Given the description of an element on the screen output the (x, y) to click on. 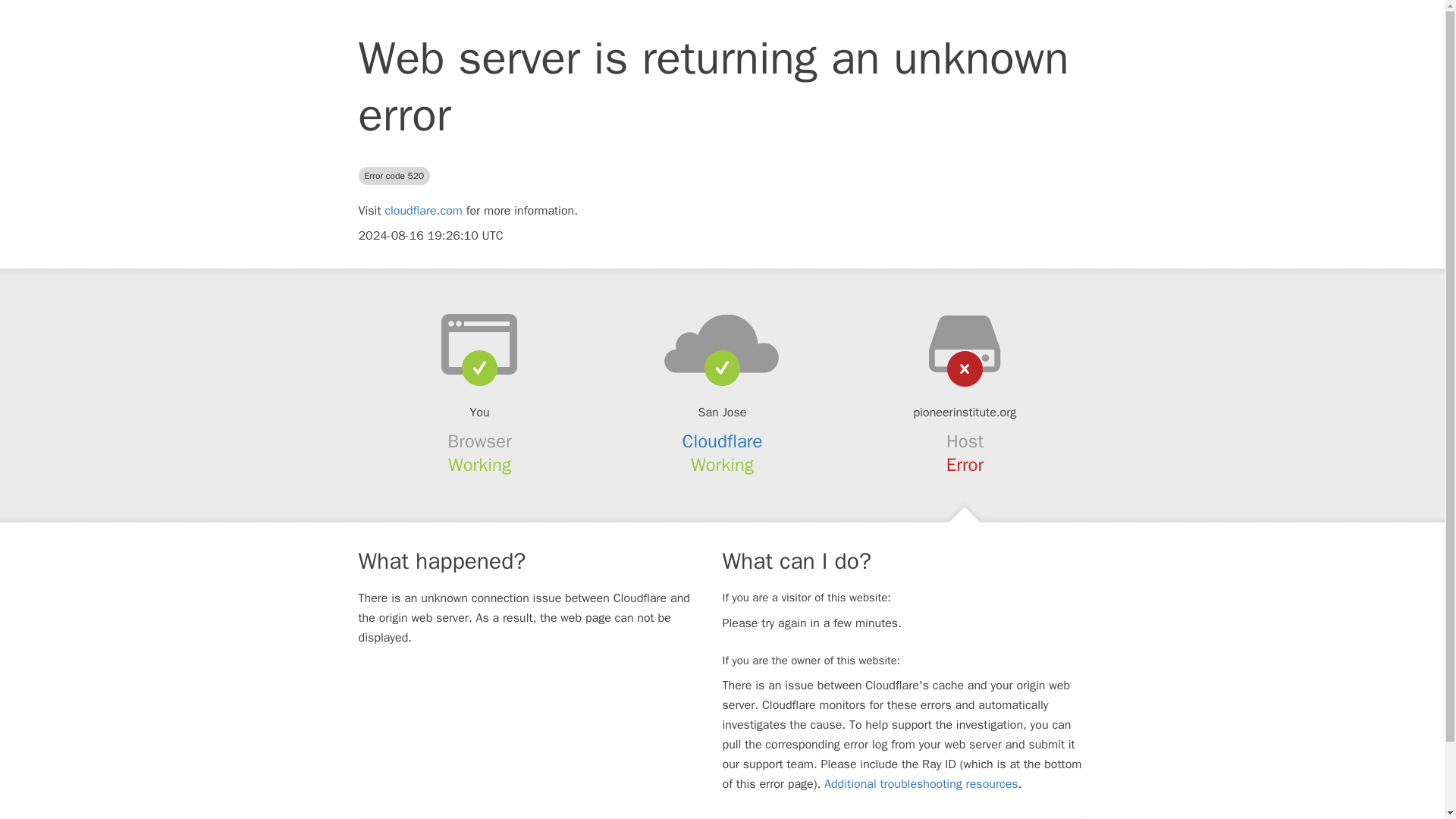
Additional troubleshooting resources (920, 783)
cloudflare.com (423, 210)
Cloudflare (722, 440)
